Given the description of an element on the screen output the (x, y) to click on. 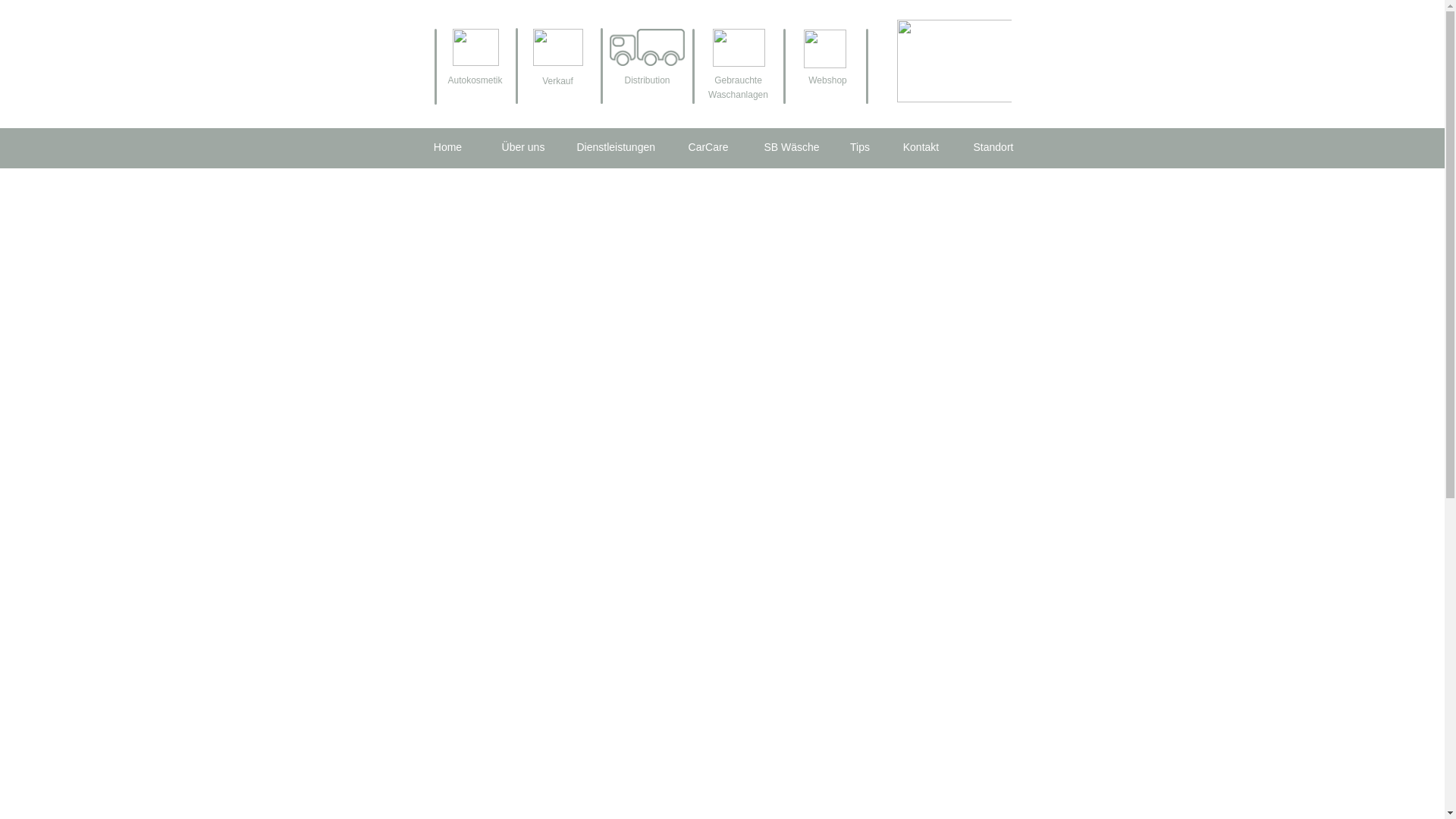
Verkauf Element type: text (557, 83)
Standort Element type: text (992, 147)
Kontakt Element type: text (920, 147)
Distribution Element type: text (647, 82)
Home Element type: text (447, 147)
Webshop Element type: text (827, 82)
Gebrauchte
Waschanlagen Element type: text (738, 87)
CarCare Element type: text (712, 147)
Autokosmetik Element type: text (474, 81)
